Given the description of an element on the screen output the (x, y) to click on. 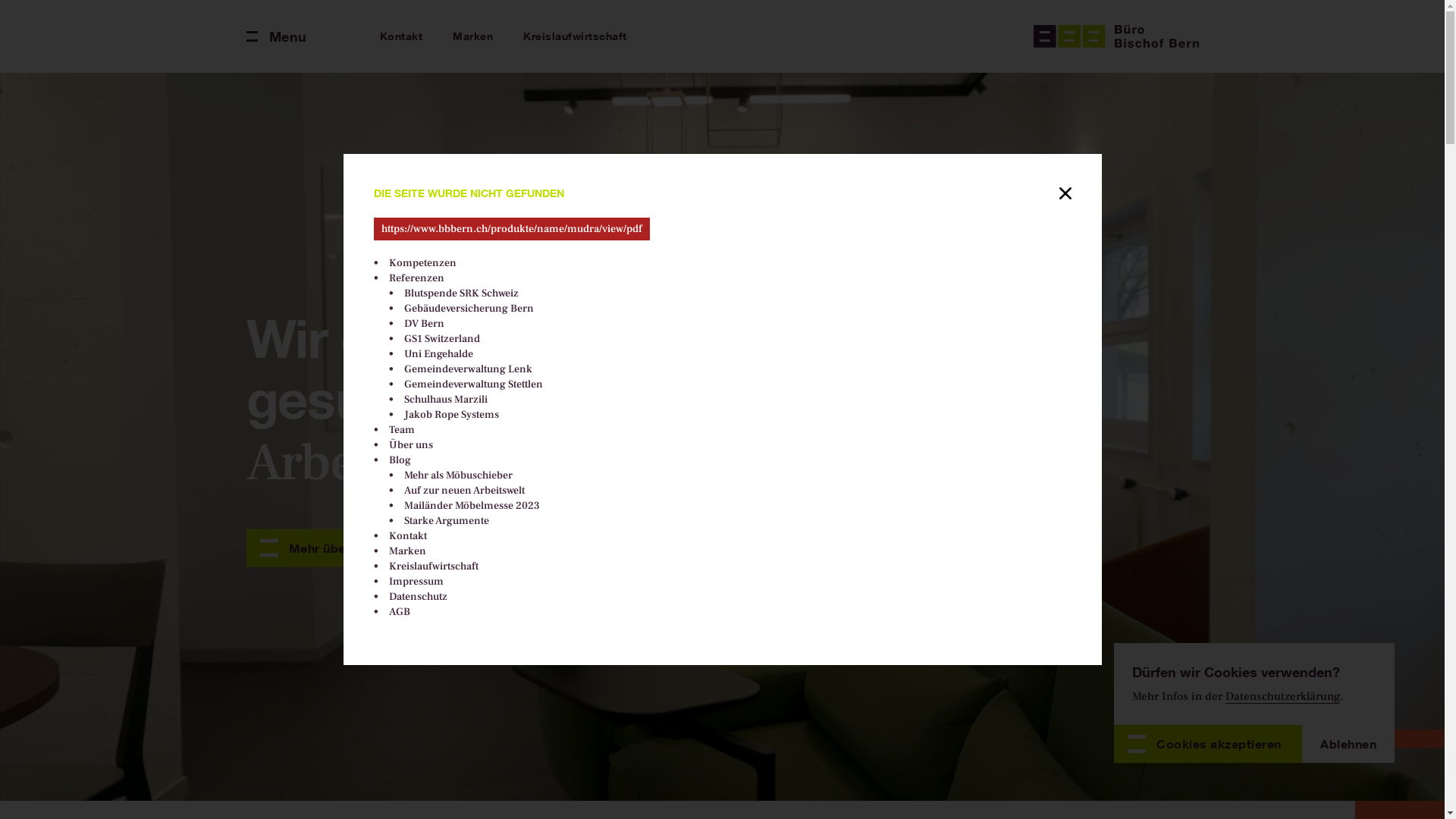
Cookies akzeptieren Element type: text (1207, 743)
Blog Element type: text (399, 460)
Kompetenzen Element type: text (421, 262)
Referenzen Element type: text (415, 278)
Marken Element type: text (406, 551)
AGB Element type: text (398, 611)
Auf zur neuen Arbeitswelt Element type: text (463, 490)
Kontakt Element type: text (400, 35)
Datenschutz Element type: text (417, 596)
GS1 Switzerland Element type: text (441, 338)
Team Element type: text (401, 429)
Marken Element type: text (472, 35)
Menu Element type: text (275, 36)
Ablehnen Element type: text (1348, 743)
Starke Argumente Element type: text (445, 520)
Jakob Rope Systems Element type: text (450, 414)
Uni Engehalde Element type: text (437, 353)
Schulhaus Marzili Element type: text (444, 399)
Impressum Element type: text (415, 581)
DV Bern Element type: text (423, 323)
Kreislaufwirtschaft Element type: text (575, 35)
Kreislaufwirtschaft Element type: text (432, 566)
Gemeindeverwaltung Stettlen Element type: text (472, 384)
Gemeindeverwaltung Lenk Element type: text (467, 369)
Kontakt Element type: text (407, 535)
Blutspende SRK Schweiz Element type: text (460, 293)
